Given the description of an element on the screen output the (x, y) to click on. 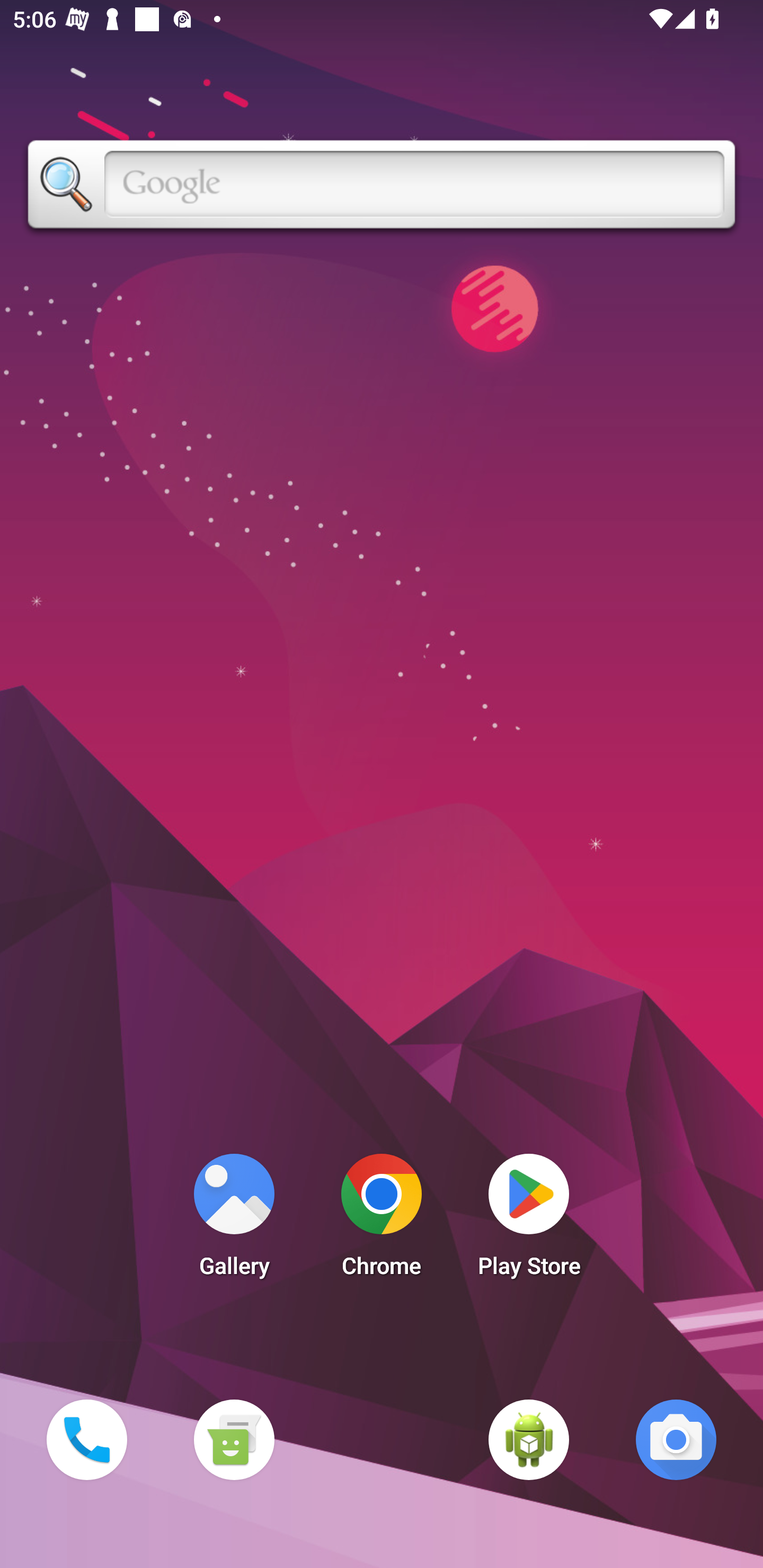
Gallery (233, 1220)
Chrome (381, 1220)
Play Store (528, 1220)
Phone (86, 1439)
Messaging (233, 1439)
WebView Browser Tester (528, 1439)
Camera (676, 1439)
